Given the description of an element on the screen output the (x, y) to click on. 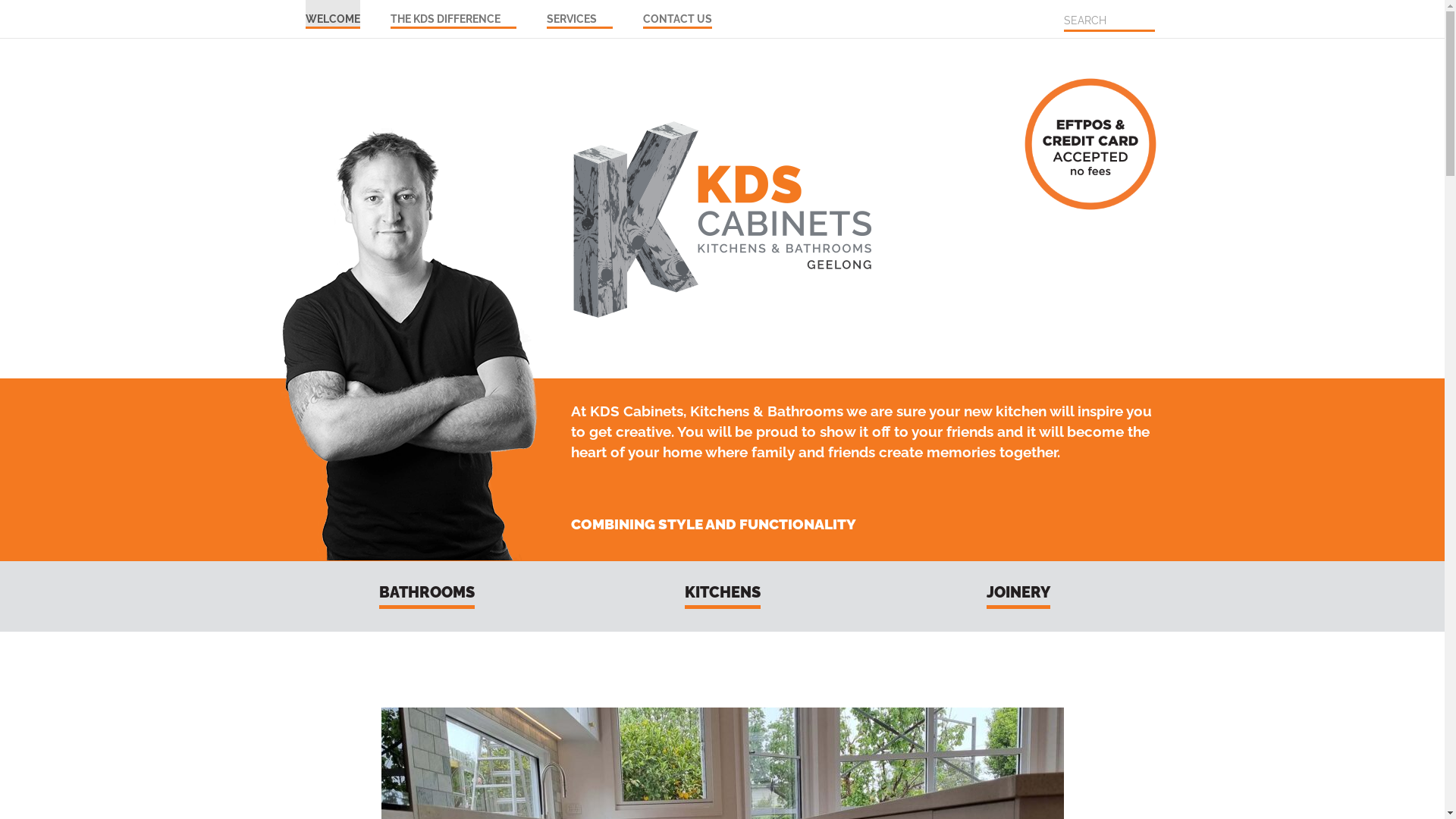
KITCHENS Element type: text (721, 593)
BATHROOMS Element type: text (426, 593)
SERVICES Element type: text (578, 14)
THE KDS DIFFERENCE Element type: text (452, 14)
WELCOME Element type: text (331, 14)
CONTACT US Element type: text (677, 14)
JOINERY Element type: text (1017, 593)
